Given the description of an element on the screen output the (x, y) to click on. 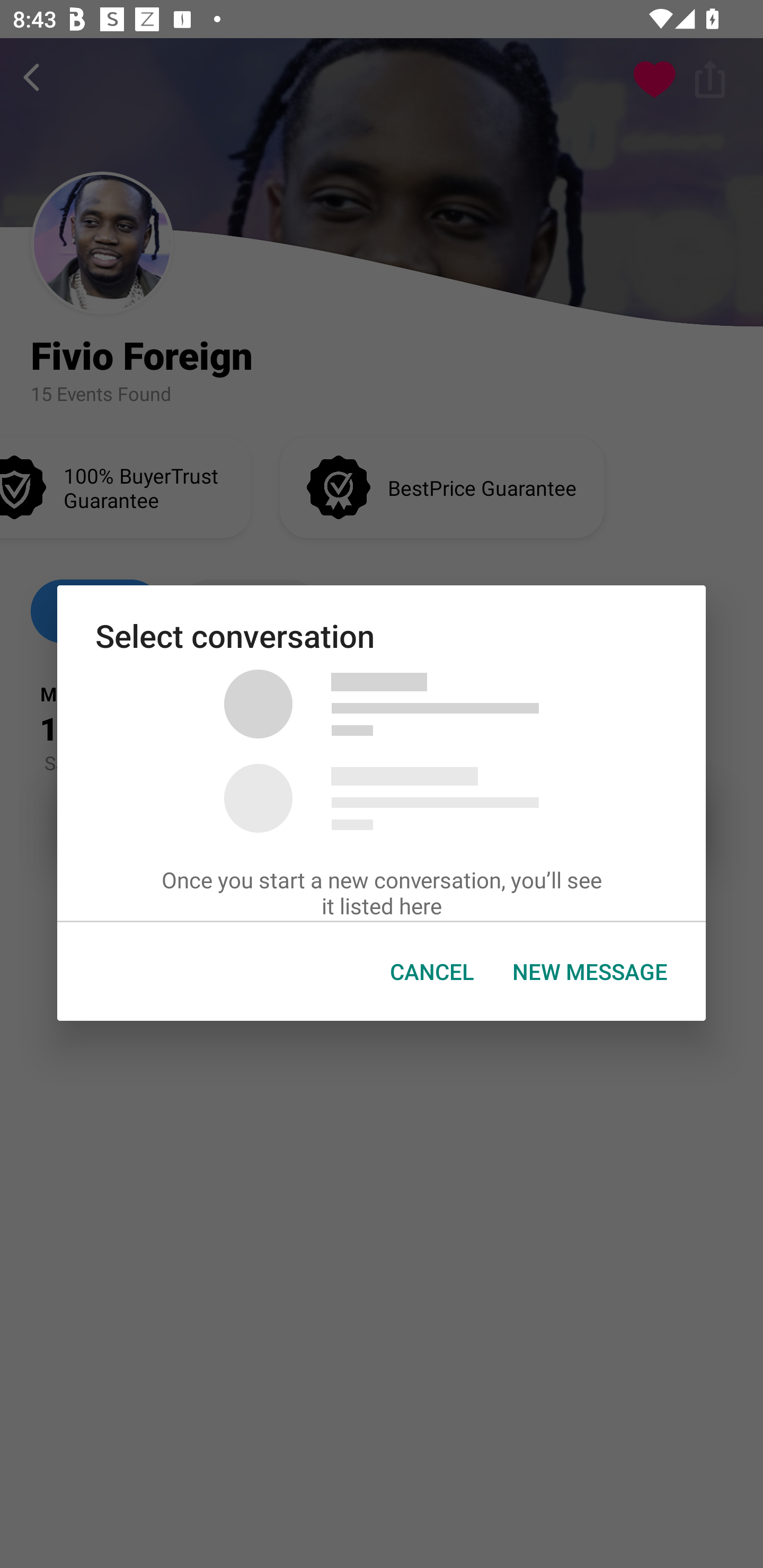
CANCEL (431, 971)
NEW MESSAGE (589, 971)
